Given the description of an element on the screen output the (x, y) to click on. 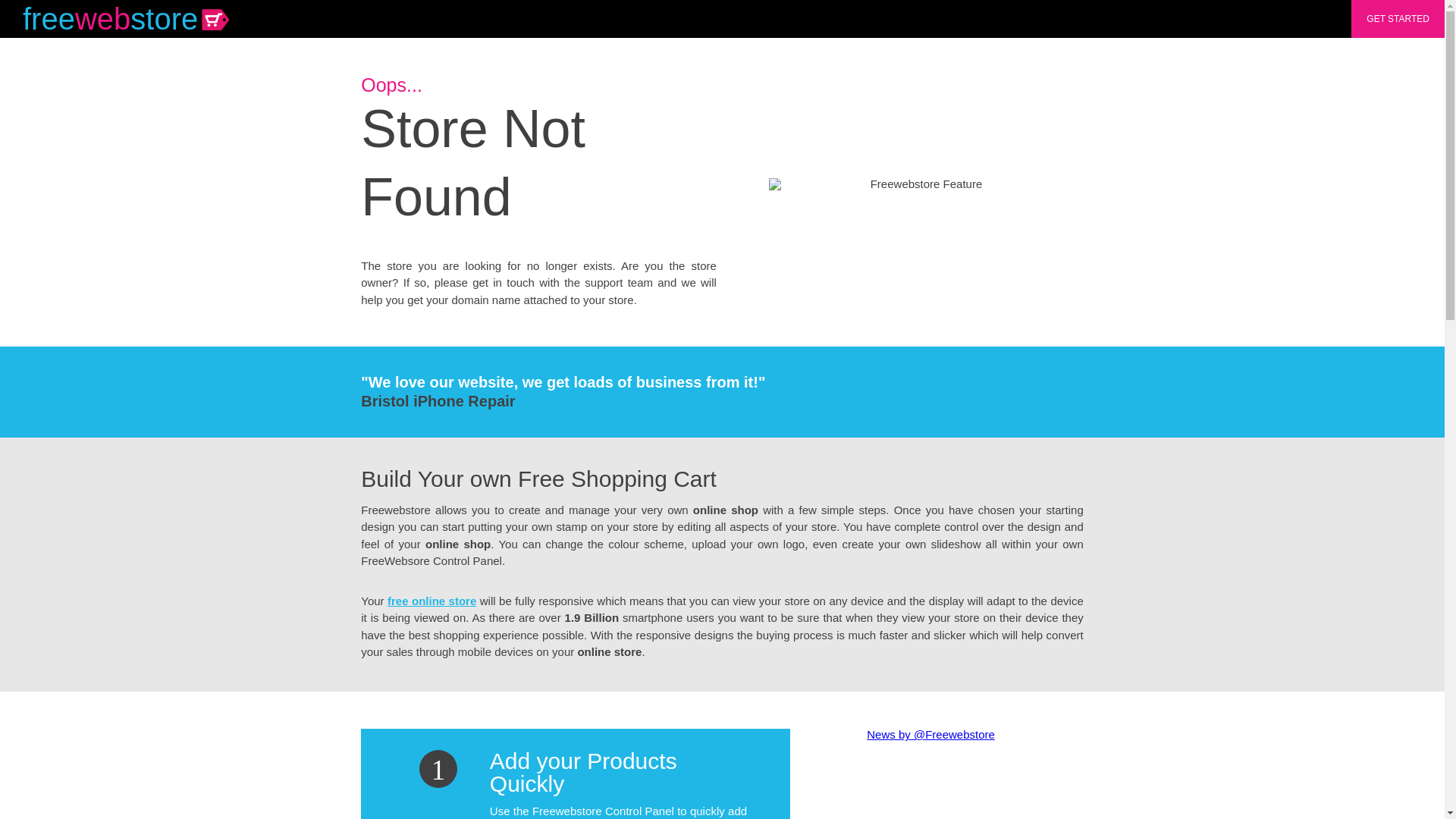
free online store (431, 600)
freewebstore (122, 18)
